Given the description of an element on the screen output the (x, y) to click on. 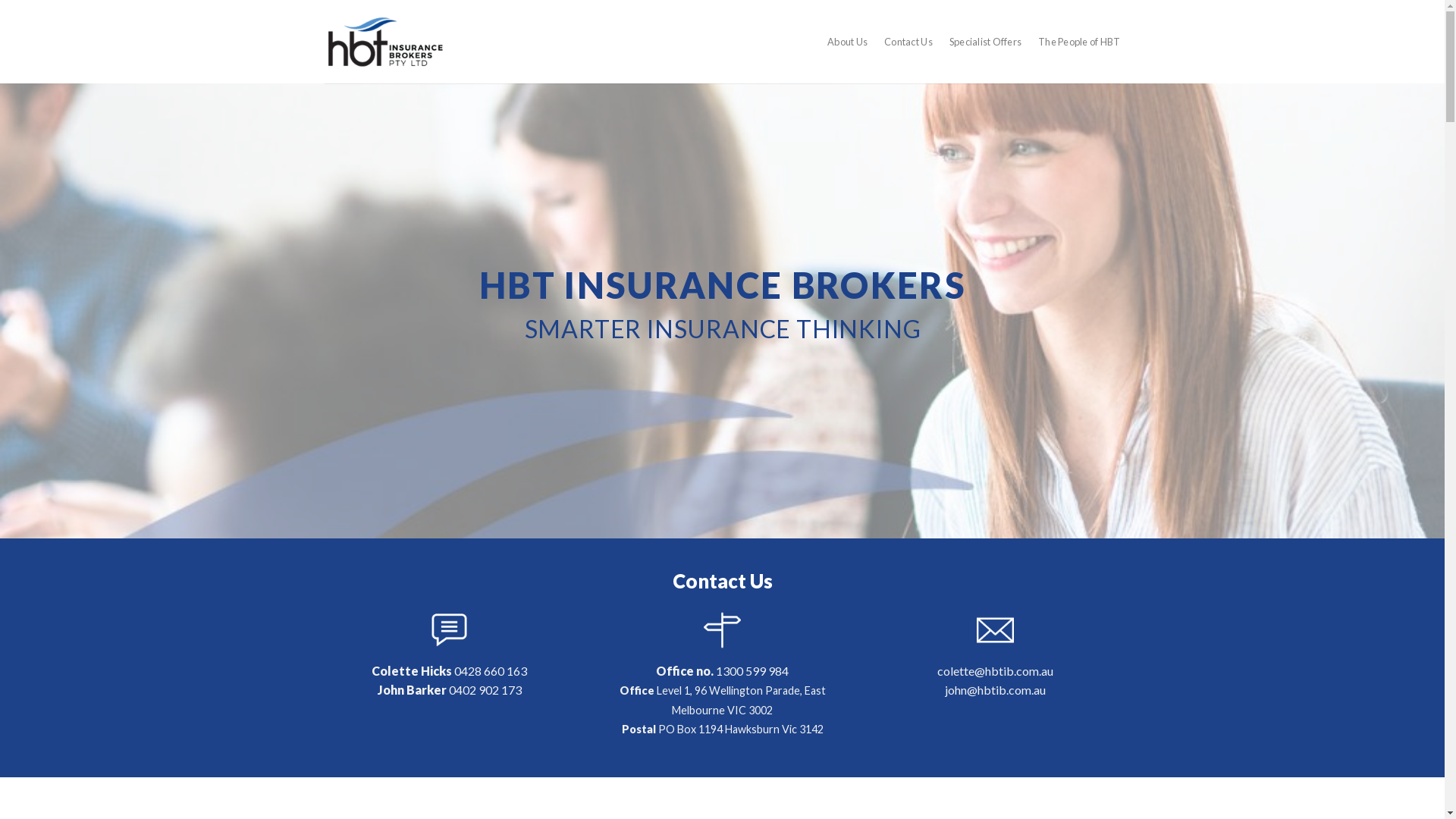
Contact Us Element type: text (908, 41)
About Us Element type: text (847, 41)
Specialist Offers Element type: text (985, 41)
HBT Insurance Brokers Pty Ltd Element type: hover (384, 41)
The People of HBT Element type: text (1079, 41)
